Given the description of an element on the screen output the (x, y) to click on. 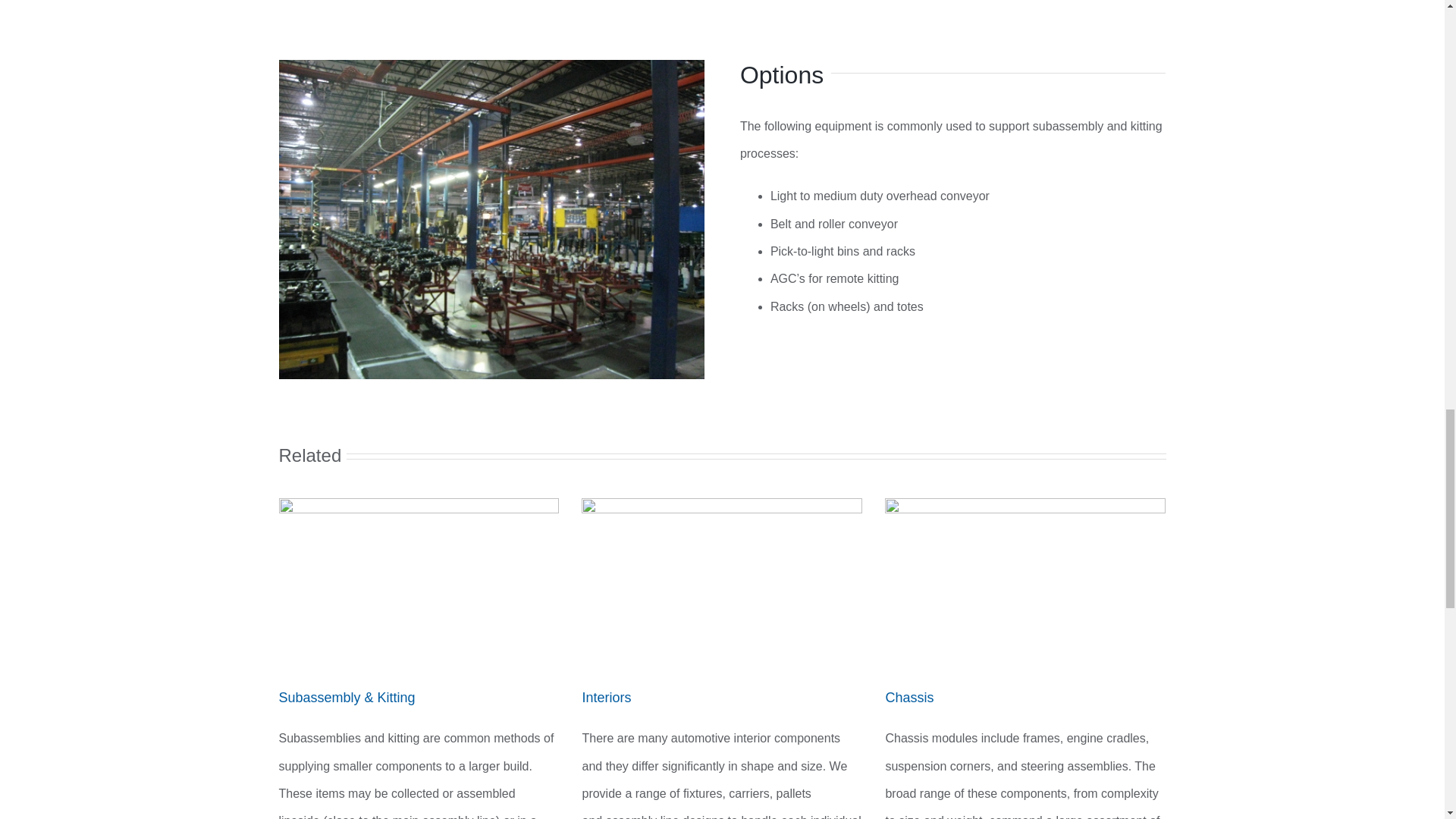
Chassis (909, 697)
Interiors (605, 697)
